Given the description of an element on the screen output the (x, y) to click on. 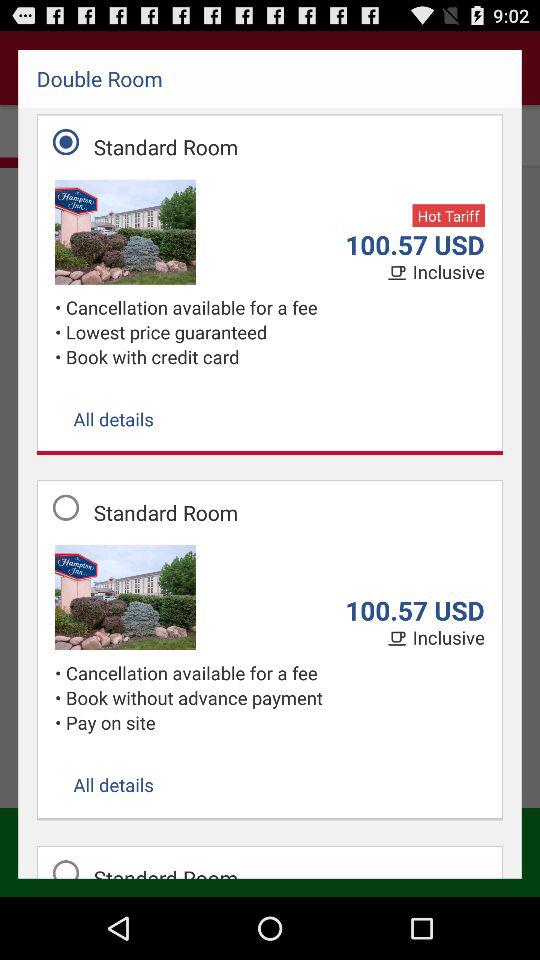
open the icon next to the cancellation available for icon (60, 331)
